Given the description of an element on the screen output the (x, y) to click on. 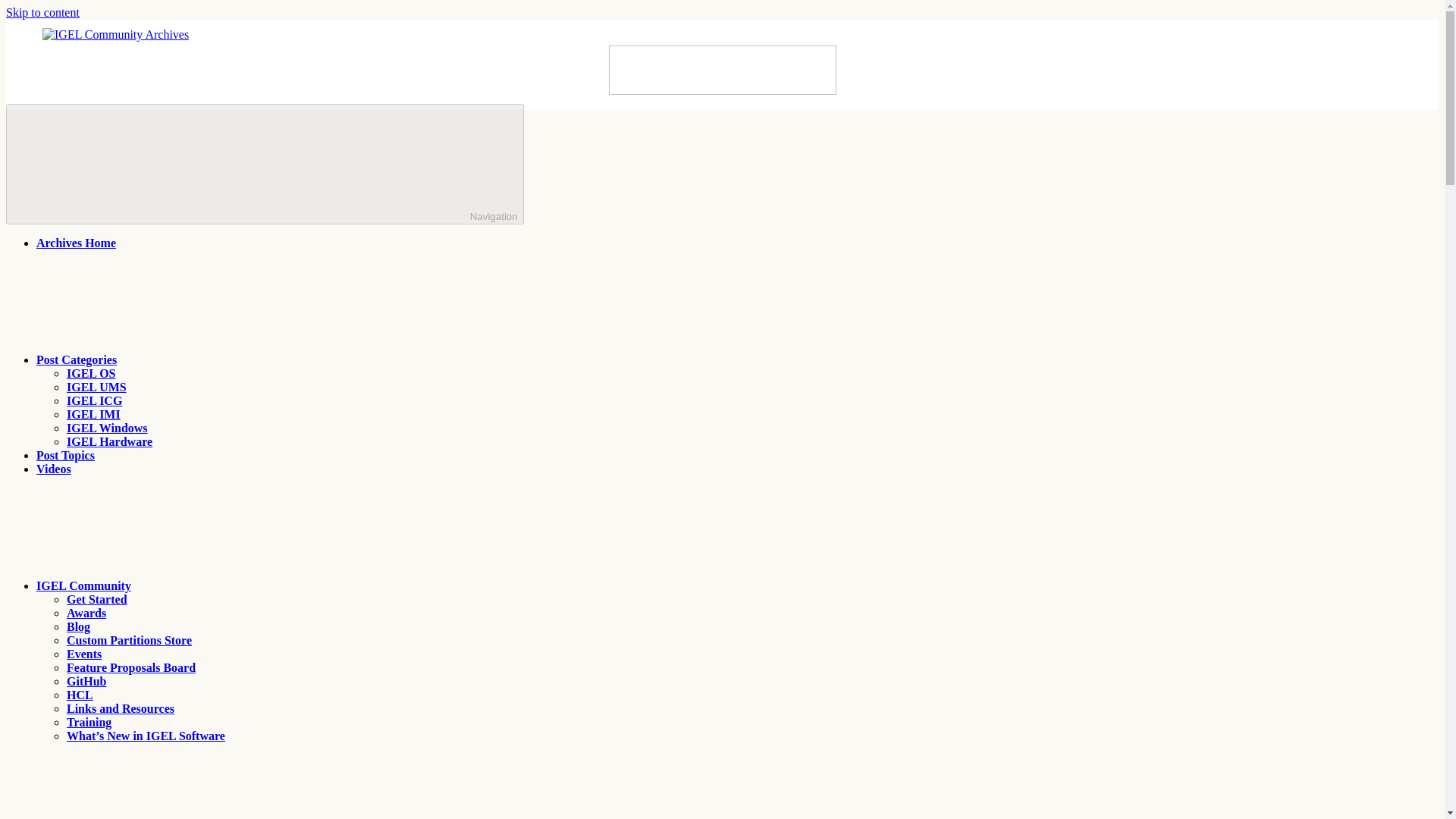
Skip to content (42, 11)
Post Categories (189, 359)
Post Topics (65, 454)
IGEL OS (90, 373)
IGEL ICG (94, 400)
Training (89, 721)
IGEL Community (197, 585)
Awards (86, 612)
IGEL Community Archives (71, 74)
IGEL UMS (96, 386)
